Given the description of an element on the screen output the (x, y) to click on. 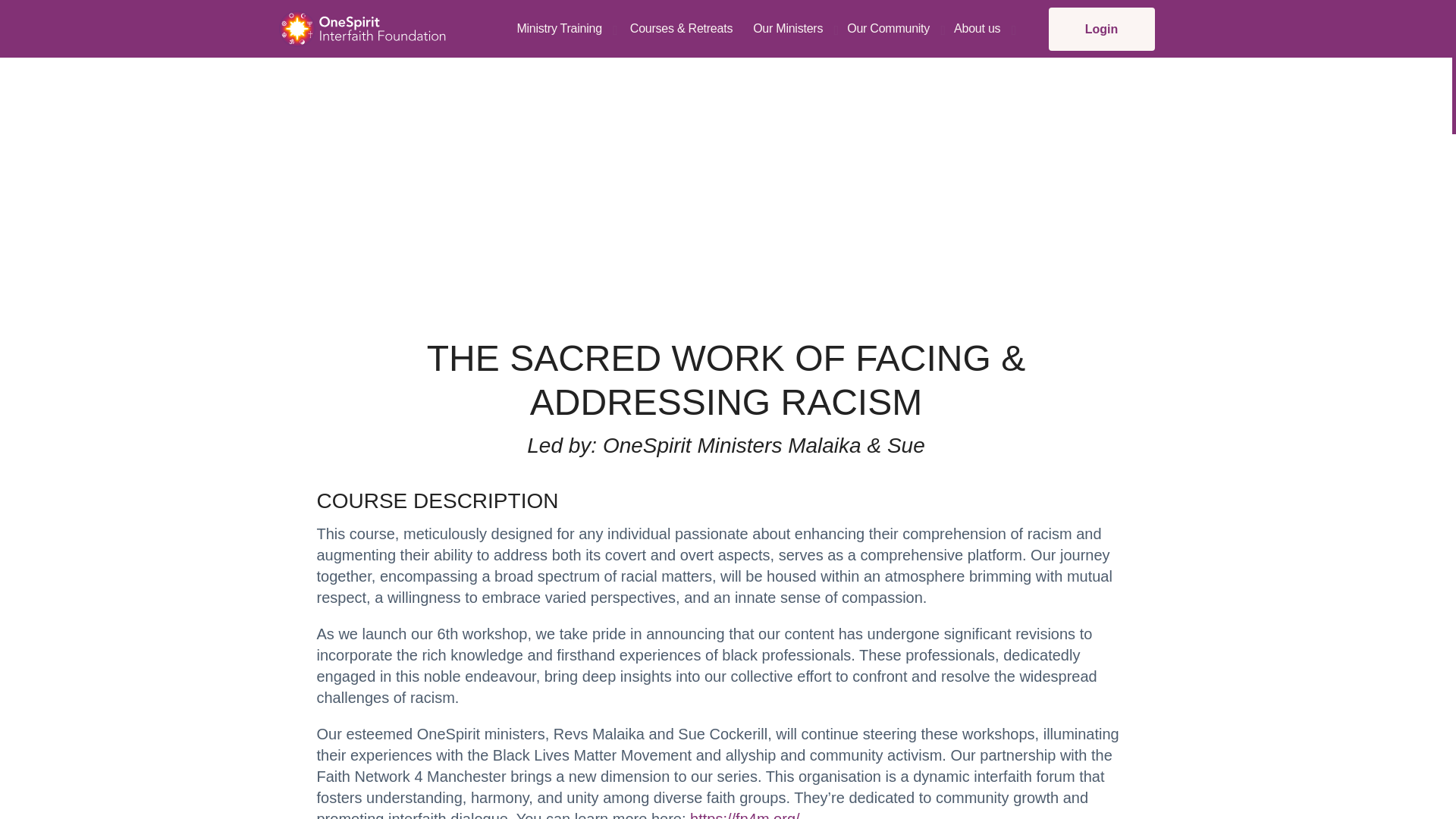
Ministry Training (558, 28)
Our Ministers (787, 28)
Login (1101, 28)
Our Community (888, 28)
